Given the description of an element on the screen output the (x, y) to click on. 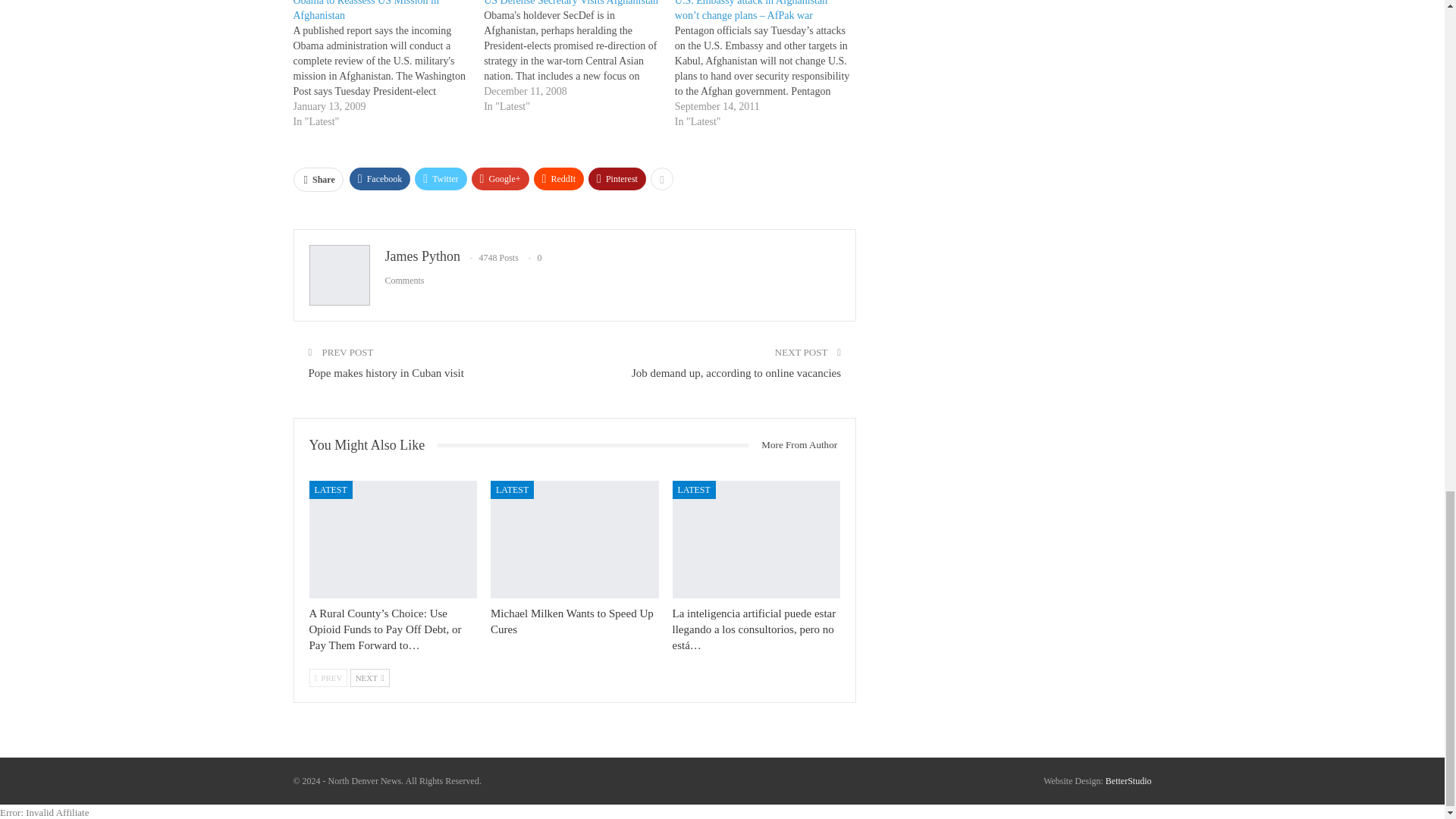
Obama to Reassess US Mission in Afghanistan (365, 10)
